Given the description of an element on the screen output the (x, y) to click on. 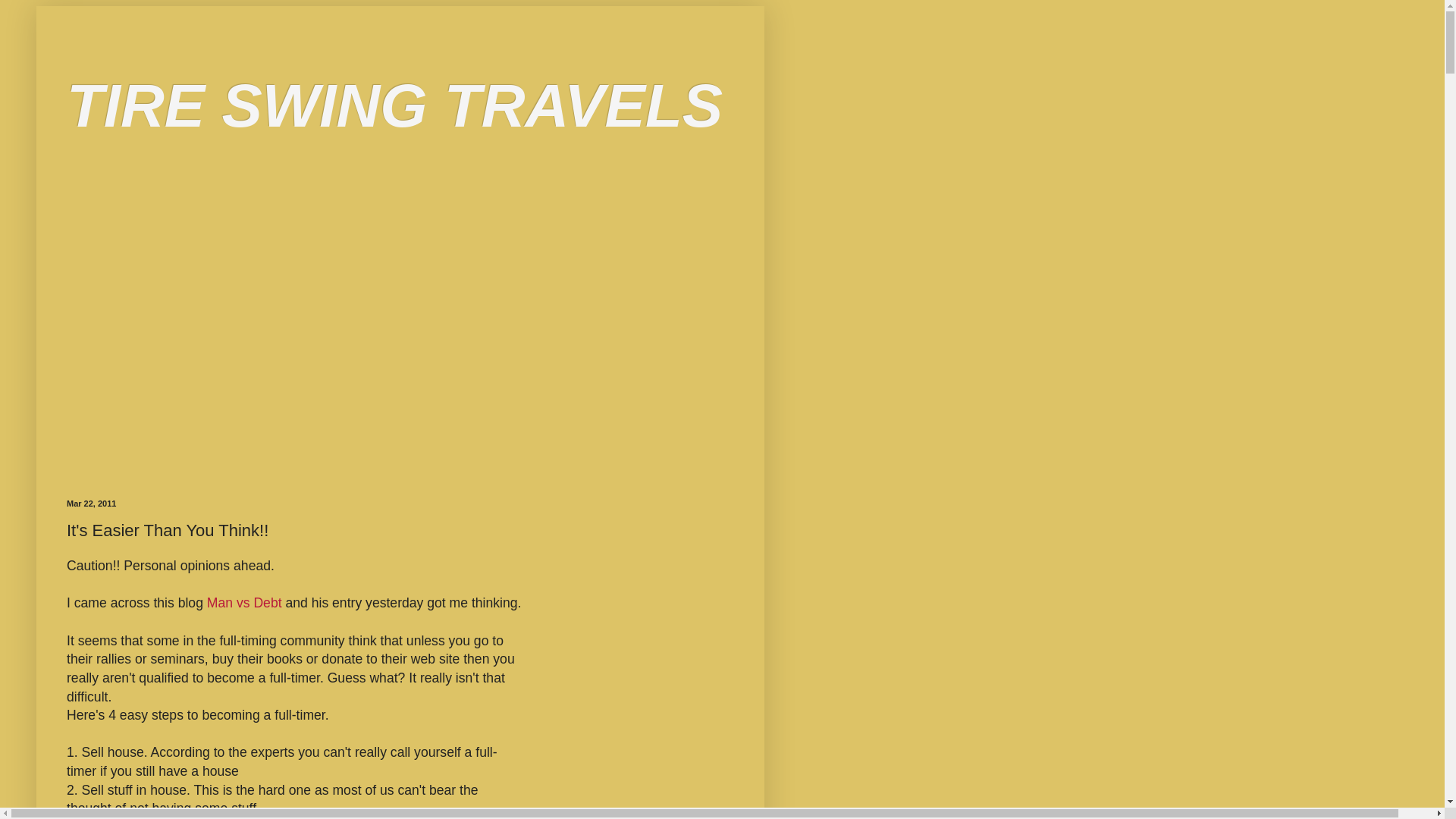
TIRE SWING TRAVELS (394, 105)
Man vs Debt (244, 602)
